Given the description of an element on the screen output the (x, y) to click on. 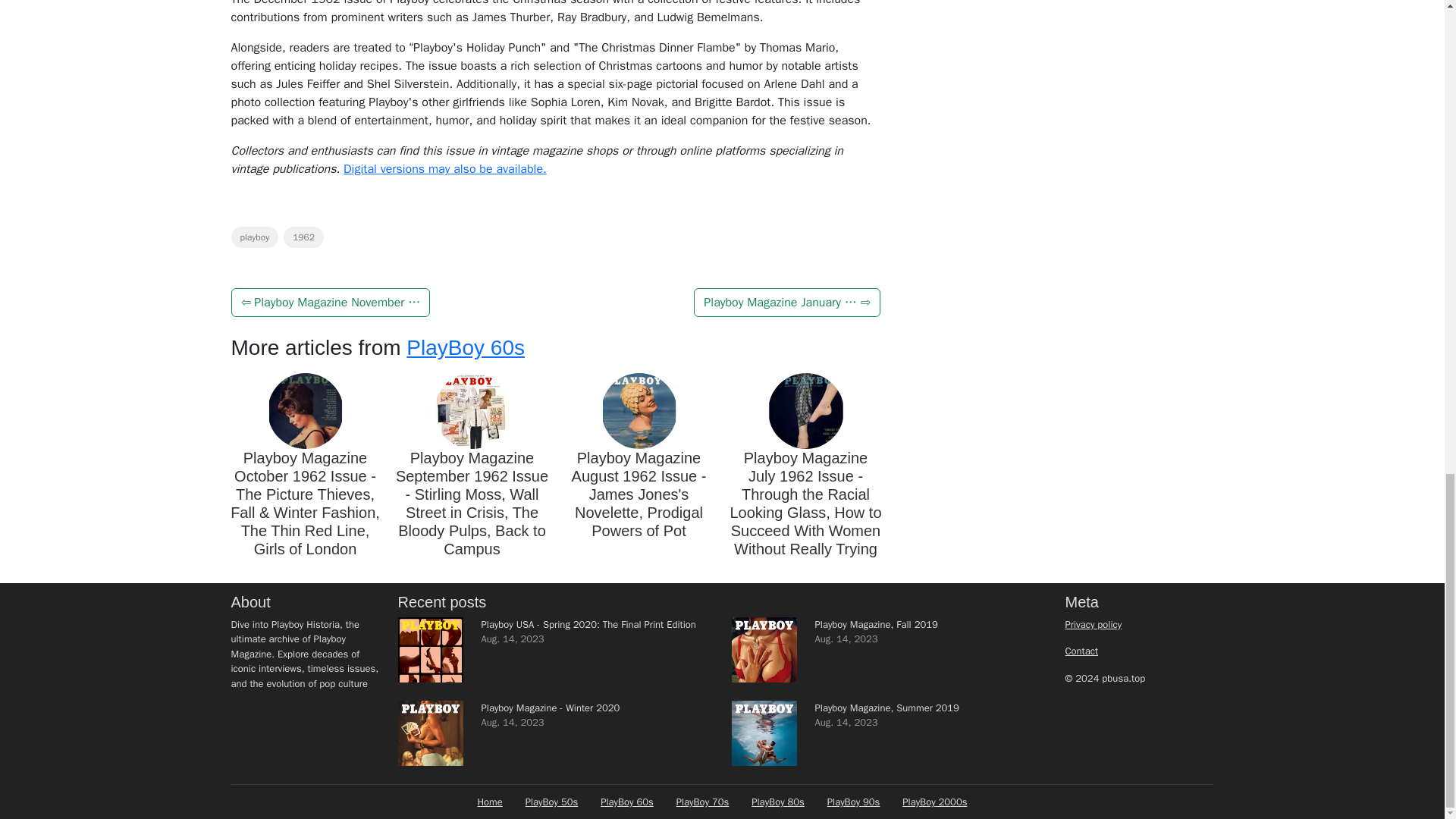
PlayBoy 60s (465, 347)
Digital versions may also be available. (445, 168)
1962 (303, 237)
playboy (254, 237)
